Given the description of an element on the screen output the (x, y) to click on. 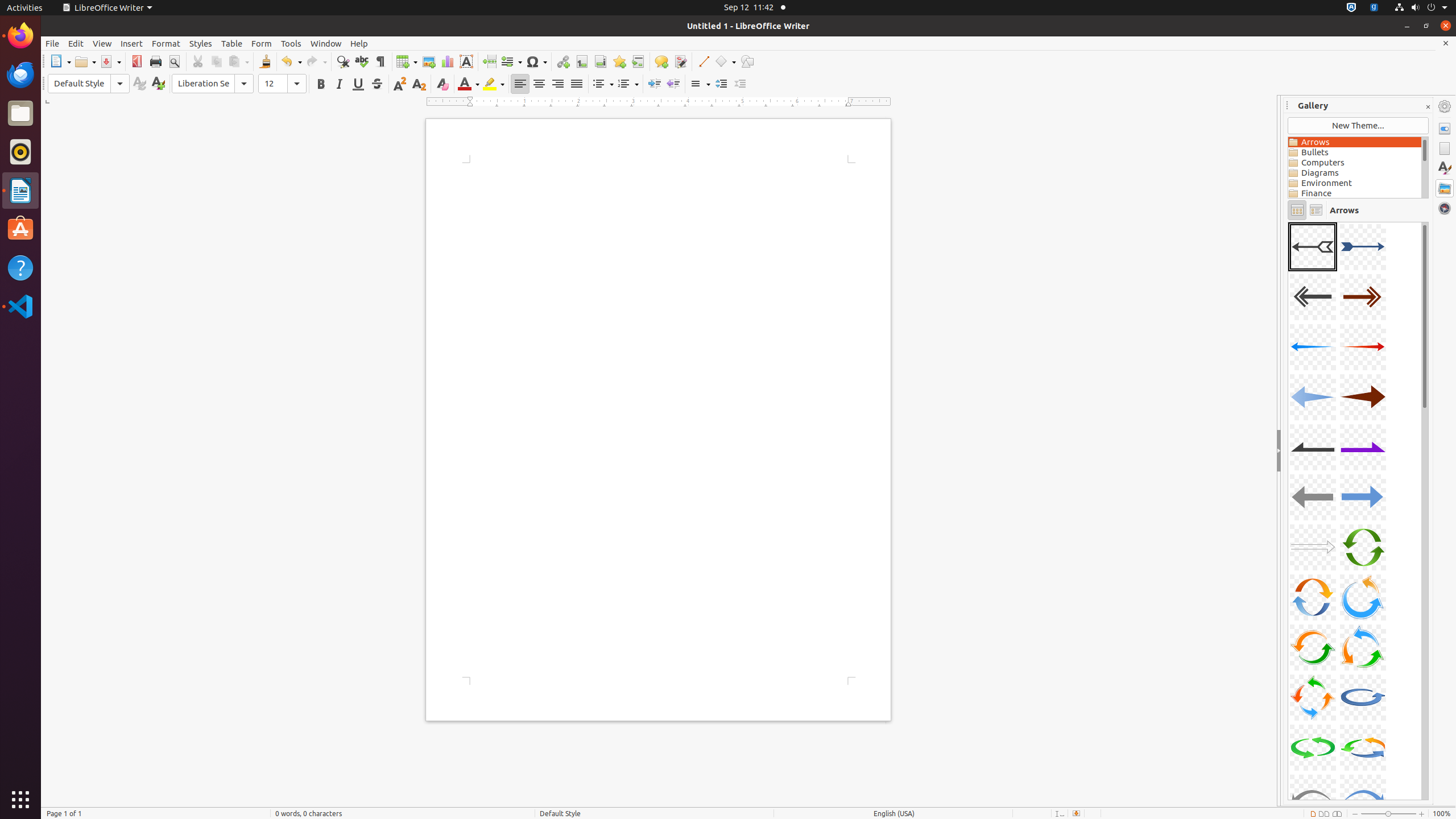
Edit Element type: menu (75, 43)
Paragraph Style Element type: combo-box (88, 83)
Font Size Element type: combo-box (282, 83)
Close Sidebar Deck Element type: push-button (1427, 106)
Underline Element type: push-button (357, 83)
